Given the description of an element on the screen output the (x, y) to click on. 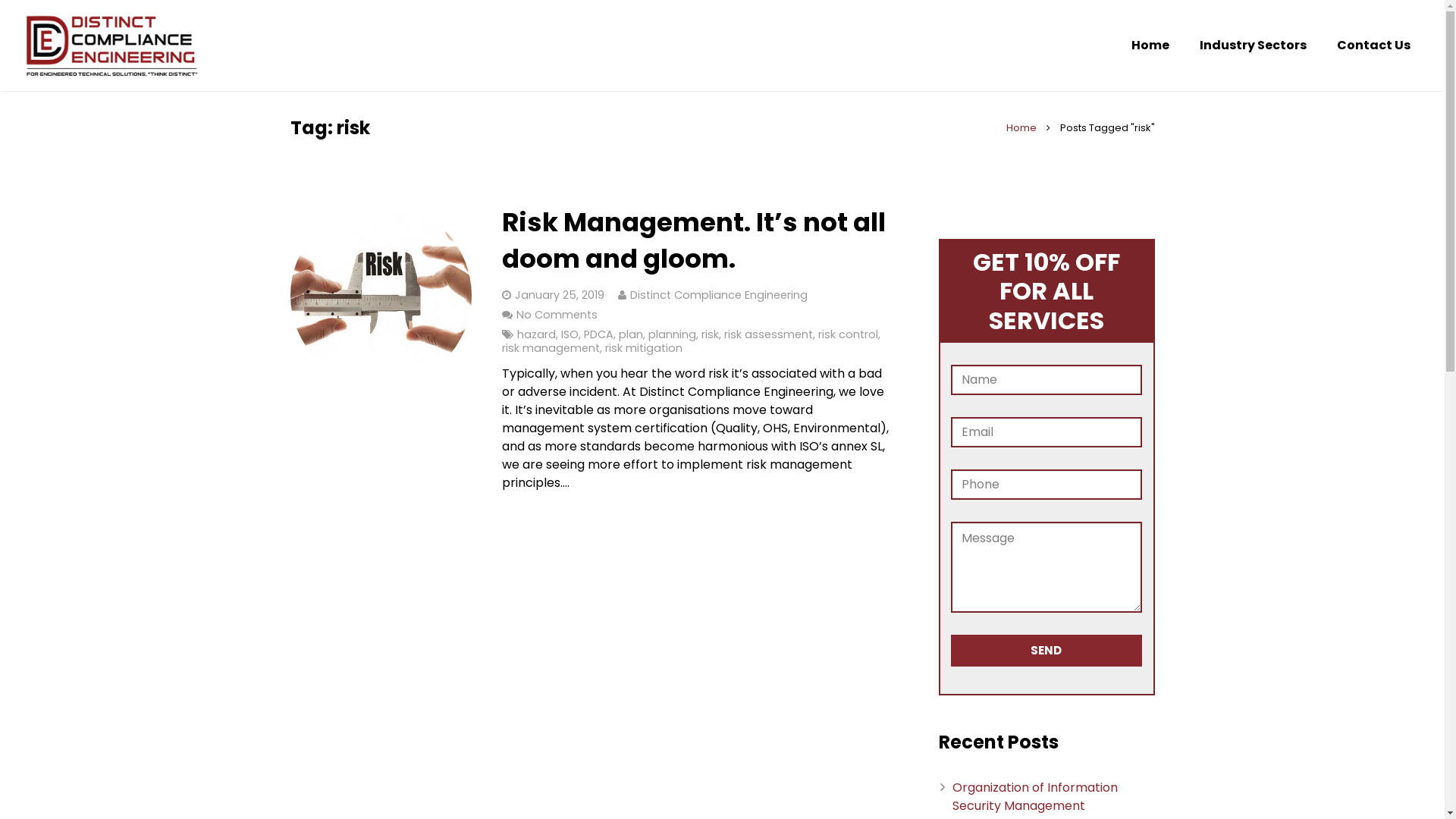
Home Element type: text (1020, 127)
Distinct Compliance Engineering Element type: text (718, 294)
Home Element type: text (1150, 45)
PDCA Element type: text (598, 334)
risk Element type: text (709, 334)
ISO Element type: text (569, 334)
Organization of Information Security Management Element type: text (1034, 796)
risk management Element type: text (550, 347)
plan Element type: text (630, 334)
planning Element type: text (672, 334)
risk control Element type: text (848, 334)
risk assessment Element type: text (768, 334)
Contact Us Element type: text (1373, 45)
Industry Sectors Element type: text (1252, 45)
hazard Element type: text (536, 334)
risk mitigation Element type: text (643, 347)
Send Element type: text (1046, 650)
No Comments Element type: text (556, 314)
